Given the description of an element on the screen output the (x, y) to click on. 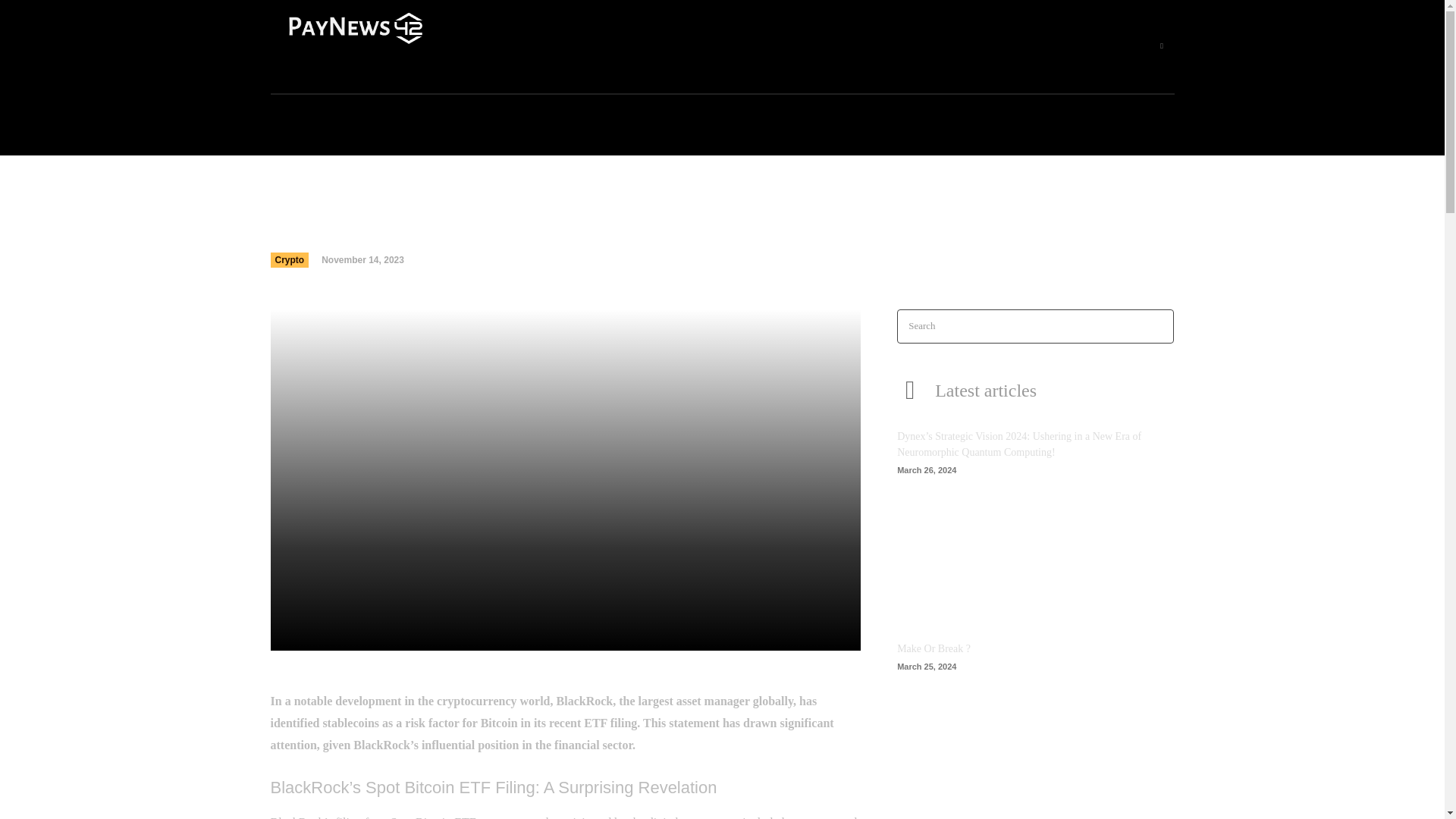
Crypto (288, 259)
Make Or Break ? (933, 648)
Make Or Break ? (933, 648)
Twitter (1162, 46)
Make Or Break ? (1034, 738)
